Given the description of an element on the screen output the (x, y) to click on. 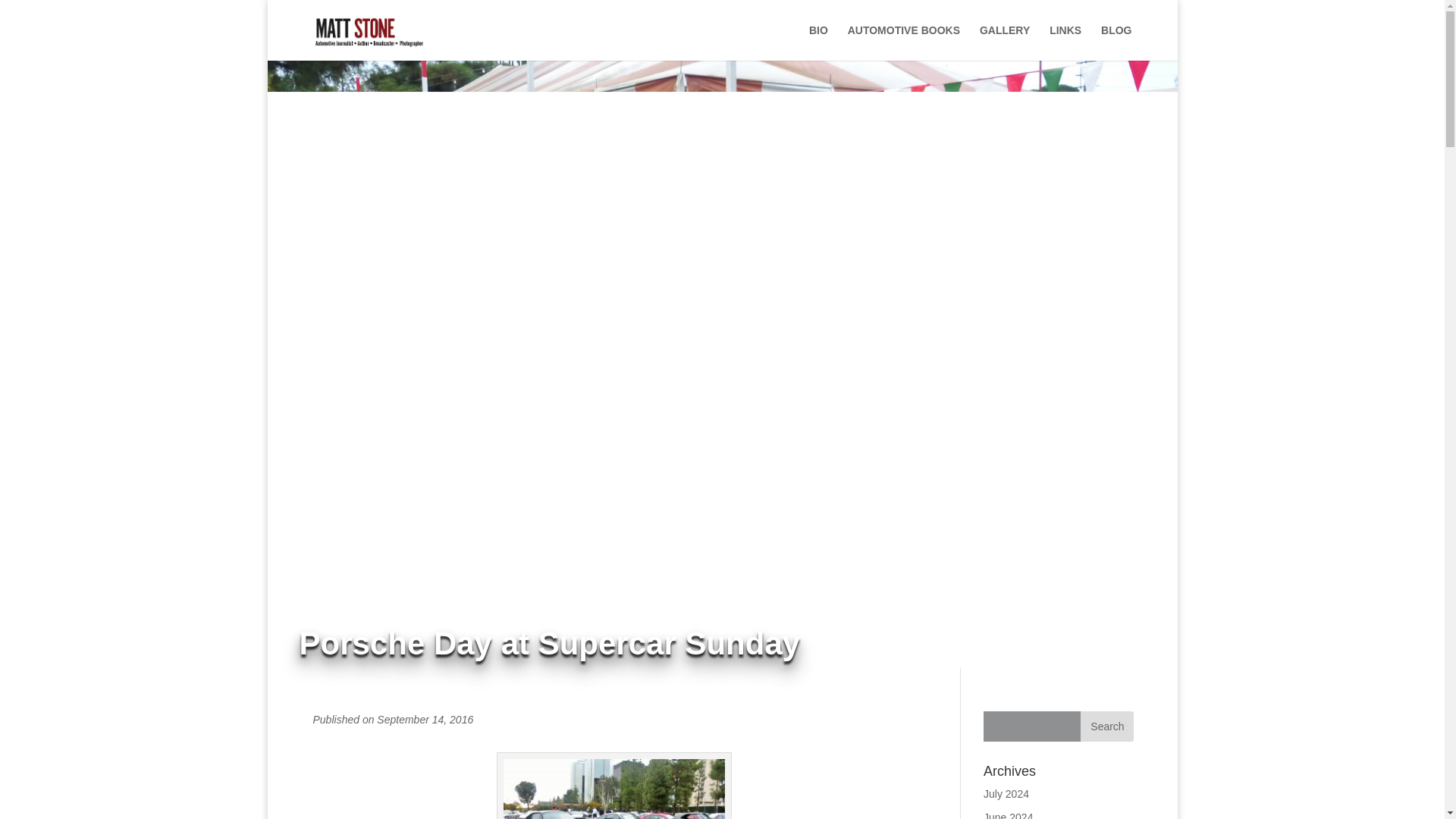
LINKS (1065, 42)
AUTOMOTIVE BOOKS (903, 42)
June 2024 (1008, 815)
Search (1107, 726)
Search (1107, 726)
July 2024 (1006, 793)
GALLERY (1004, 42)
